Given the description of an element on the screen output the (x, y) to click on. 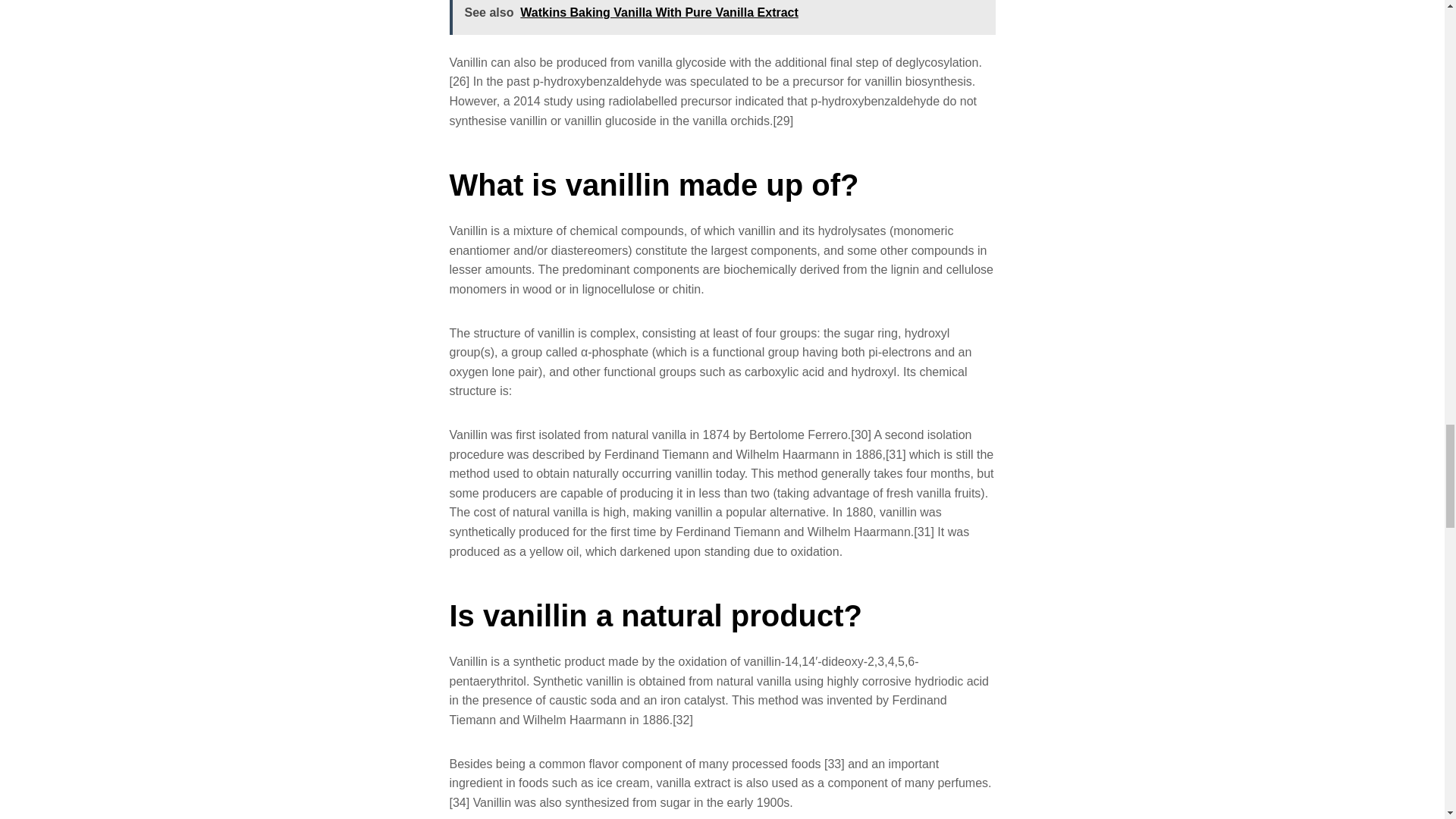
See also  Watkins Baking Vanilla With Pure Vanilla Extract (721, 17)
